Given the description of an element on the screen output the (x, y) to click on. 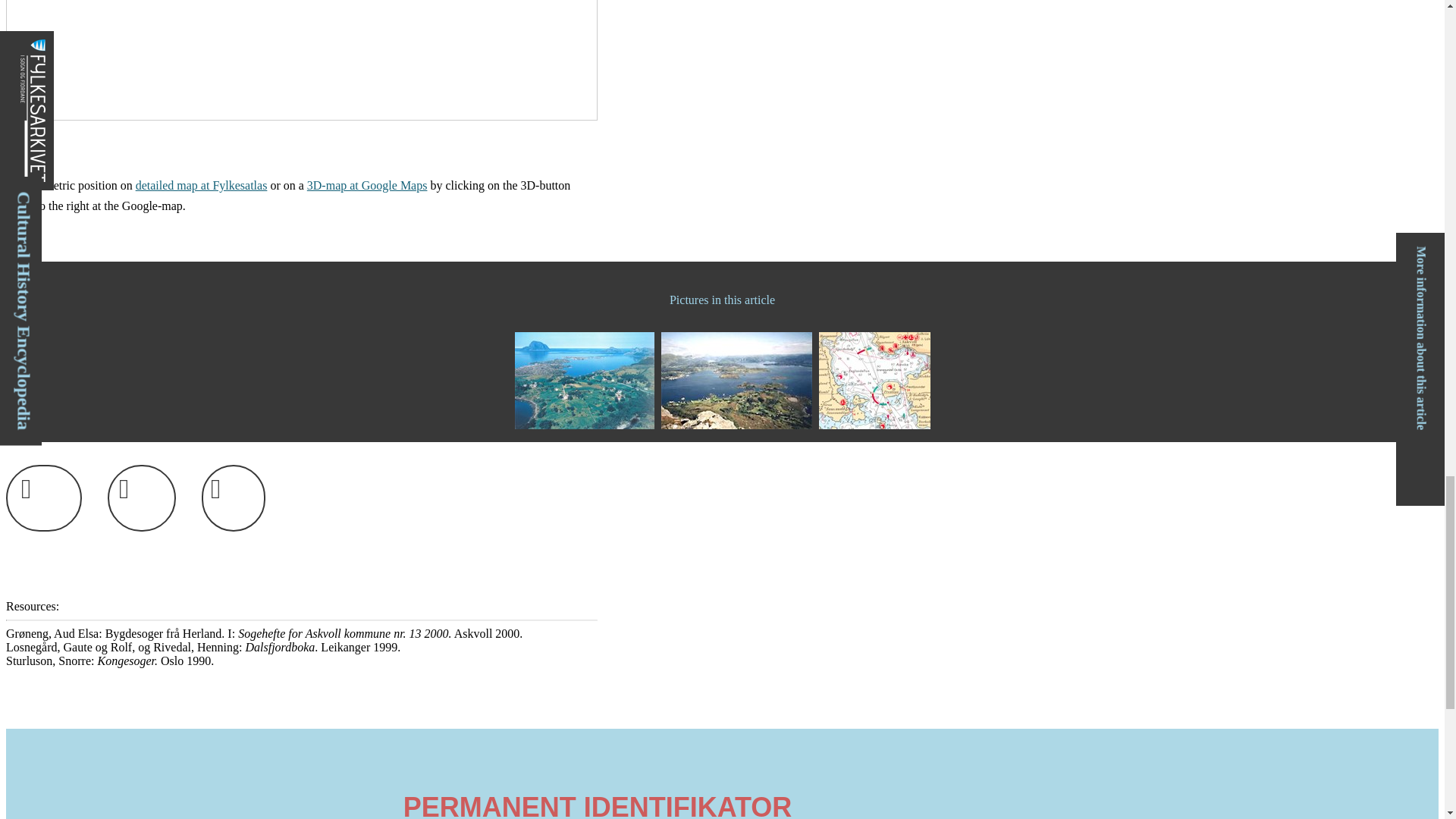
3D-map at Google Maps (367, 185)
detailed map at Fylkesatlas (201, 185)
